Given the description of an element on the screen output the (x, y) to click on. 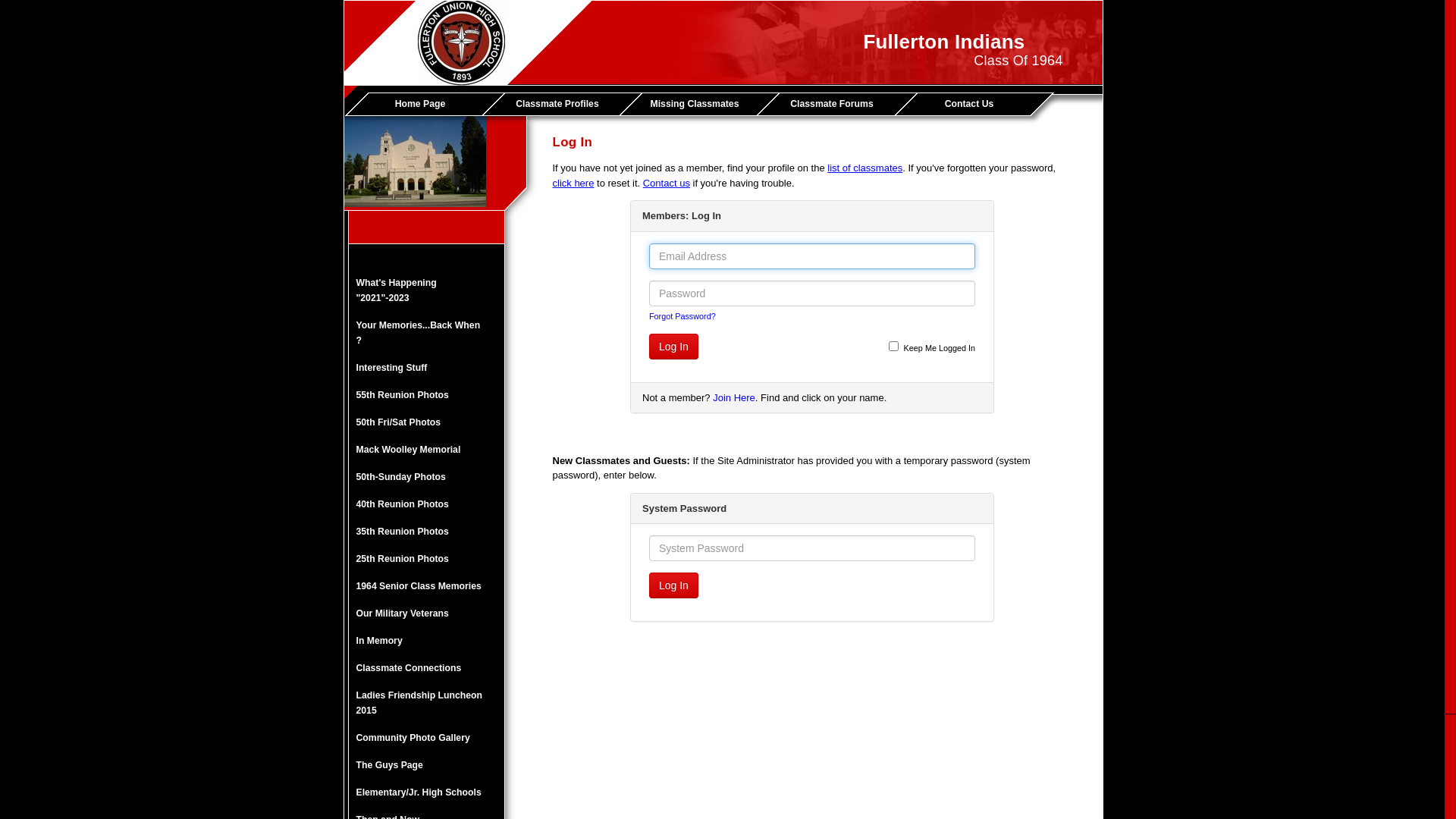
50th Fri/Sat Photos Element type: text (424, 422)
Contact us Element type: text (666, 182)
list of classmates Element type: text (864, 167)
55th Reunion Photos Element type: text (424, 394)
40th Reunion Photos Element type: text (424, 503)
In Memory Element type: text (424, 640)
Contact Us Element type: text (972, 103)
35th Reunion Photos Element type: text (424, 531)
Ladies Friendship Luncheon 2015 Element type: text (424, 702)
Log In Element type: text (673, 346)
Mack Woolley Memorial Element type: text (424, 449)
Interesting Stuff Element type: text (424, 367)
25th Reunion Photos Element type: text (424, 558)
Community Photo Gallery Element type: text (424, 737)
Our Military Veterans Element type: text (424, 613)
Forgot Password? Element type: text (682, 315)
50th-Sunday Photos Element type: text (424, 476)
What's Happening "2021"-2023 Element type: text (424, 290)
Classmate Forums Element type: text (835, 103)
1964 Senior Class Memories Element type: text (424, 585)
Missing Classmates Element type: text (697, 103)
The Guys Page Element type: text (424, 764)
Join Here Element type: text (733, 397)
Your Memories...Back When ? Element type: text (424, 332)
Classmate Profiles Element type: text (561, 103)
Classmate Connections Element type: text (424, 667)
Log In Element type: text (673, 585)
Home Page Element type: text (423, 103)
Elementary/Jr. High Schools Element type: text (424, 792)
click here Element type: text (572, 182)
